Given the description of an element on the screen output the (x, y) to click on. 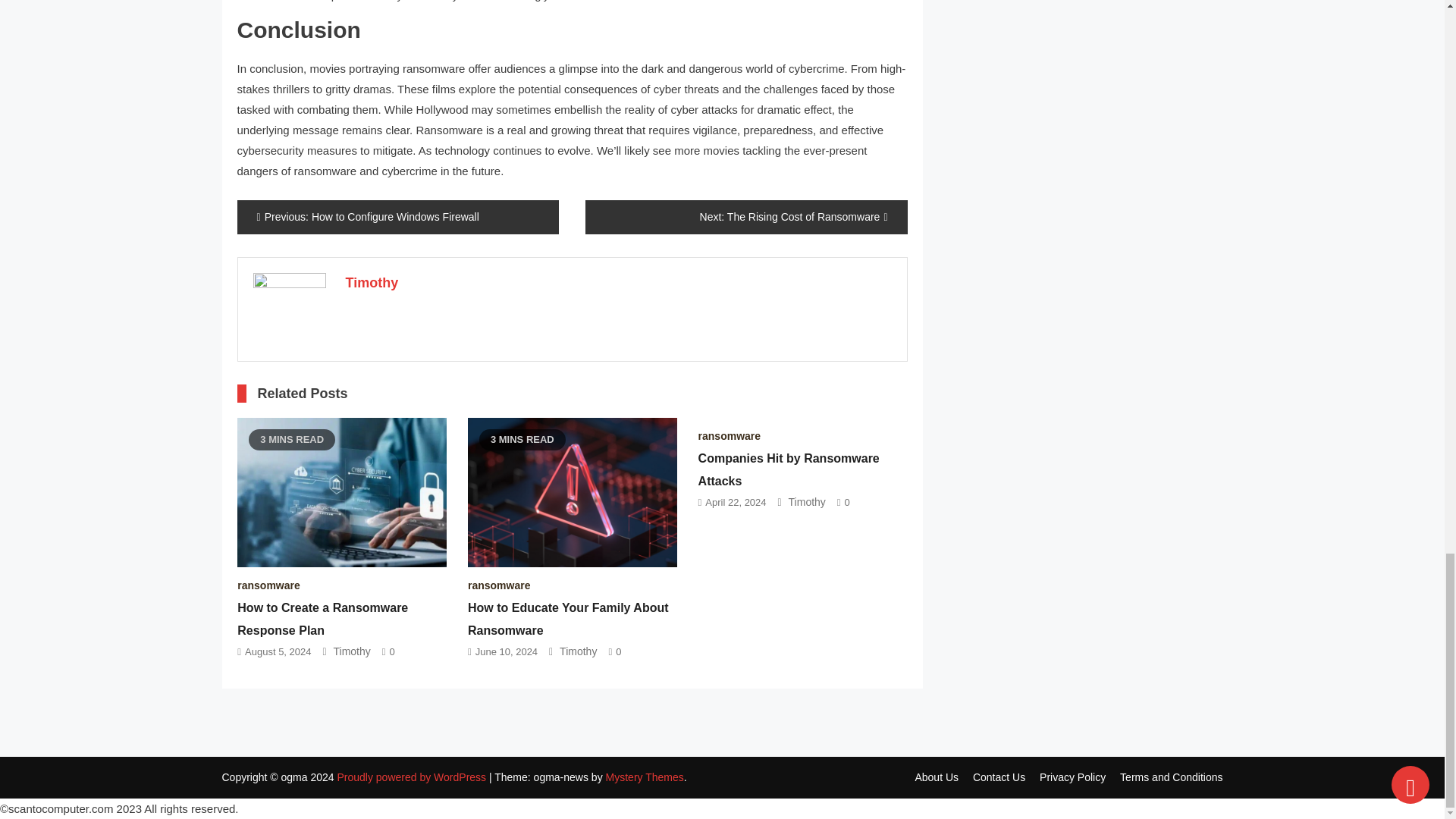
ransomware (729, 435)
ransomware (268, 585)
April 22, 2024 (734, 501)
How to Educate Your Family About Ransomware (567, 619)
Timothy (372, 282)
Next: The Rising Cost of Ransomware (746, 216)
Companies Hit by Ransomware Attacks (788, 469)
Timothy (352, 651)
Posts by Timothy (372, 282)
August 5, 2024 (277, 651)
